Given the description of an element on the screen output the (x, y) to click on. 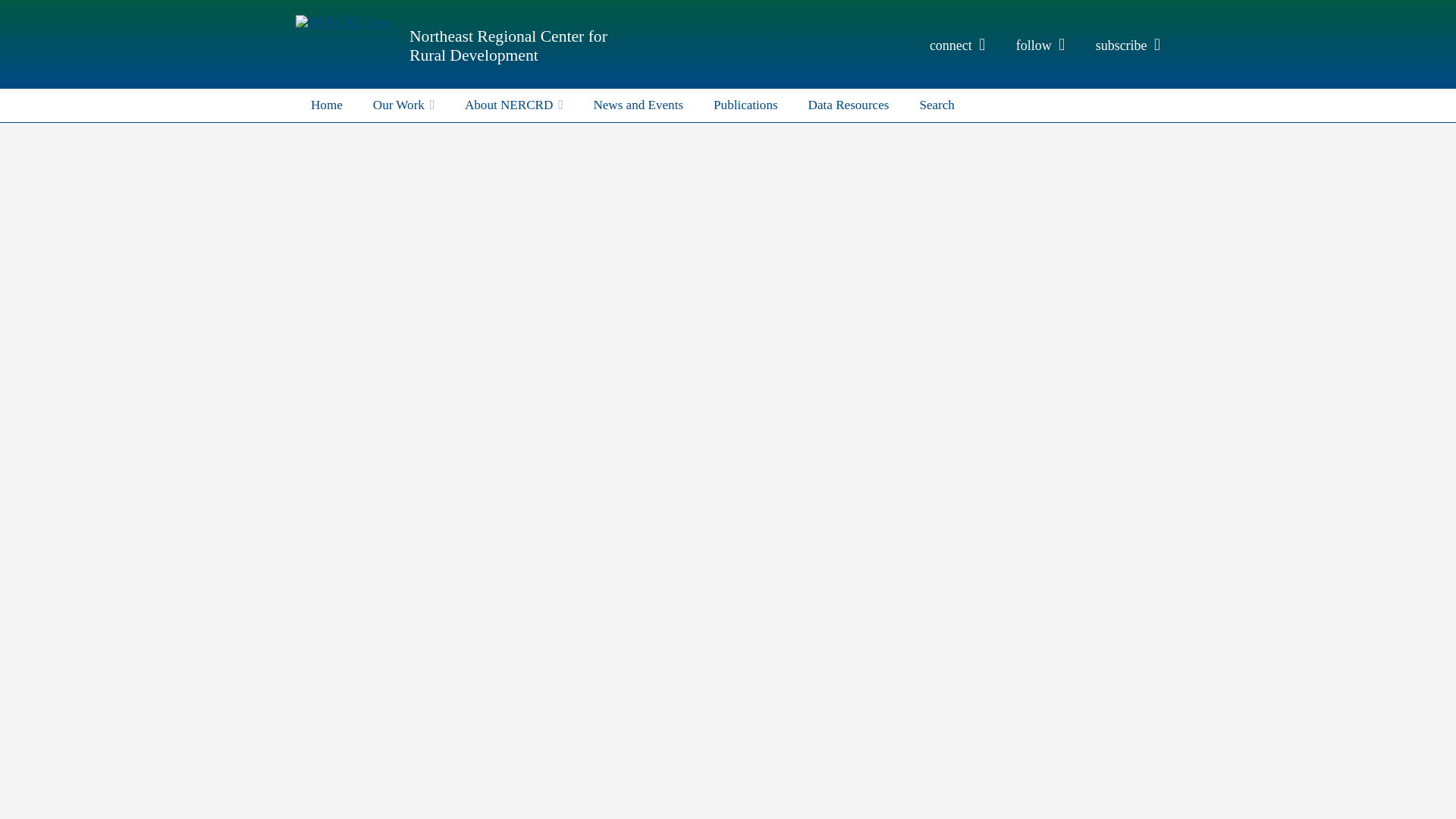
News and Events (638, 104)
subscribe (1128, 45)
Our Work (403, 104)
Search (936, 104)
Northeast Regional Center for Rural Development (508, 45)
Publications (745, 104)
Data Resources (848, 104)
Home (326, 104)
follow (1040, 45)
About NERCRD (513, 104)
